Given the description of an element on the screen output the (x, y) to click on. 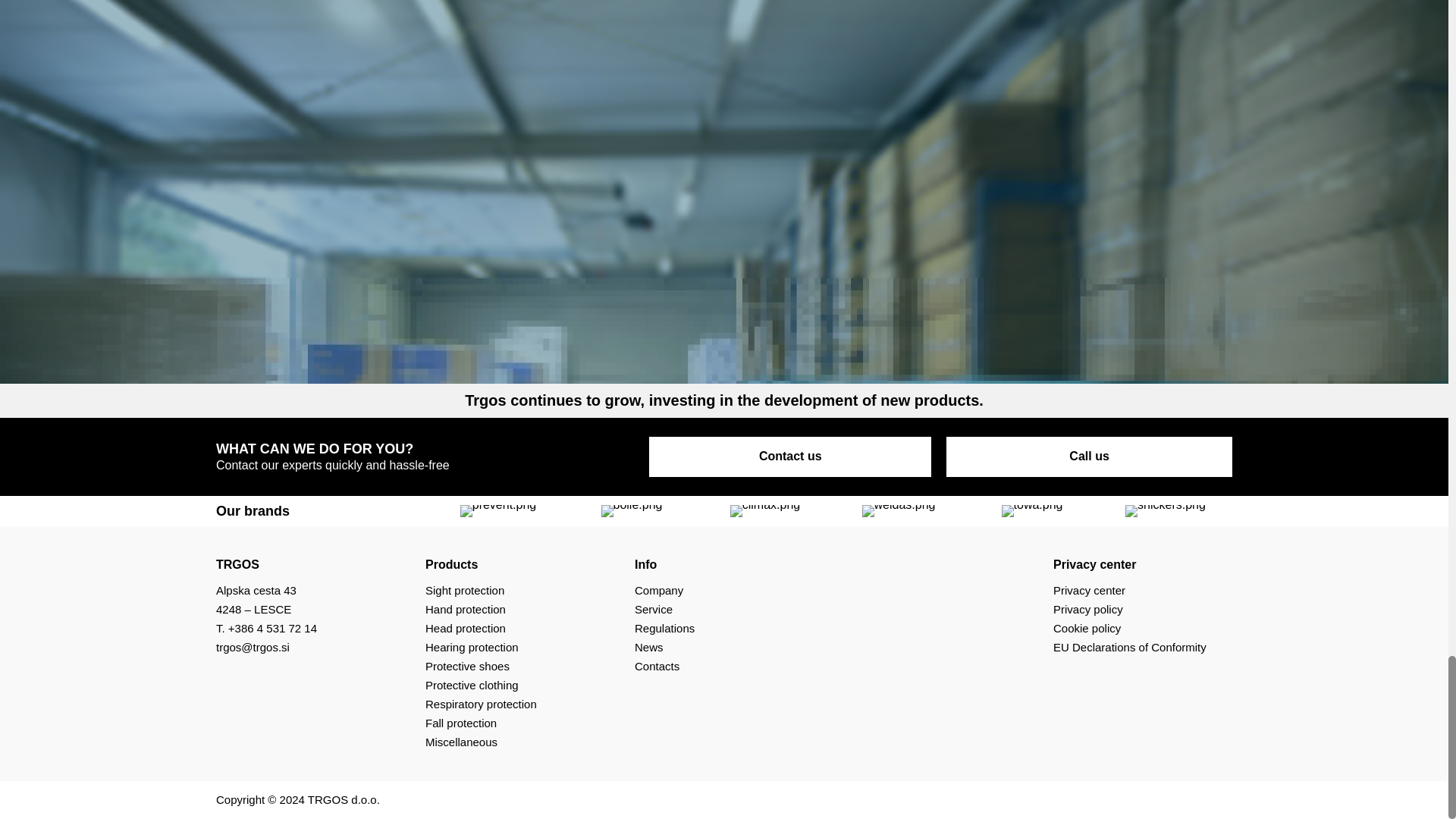
Fall protection (460, 722)
Contact us (790, 456)
Company (658, 590)
Hearing protection (471, 646)
Respiratory protection (481, 703)
Miscellaneous (461, 741)
Cookie policy (1086, 627)
Contacts (656, 666)
Hand protection (465, 608)
Regulations (664, 627)
